Given the description of an element on the screen output the (x, y) to click on. 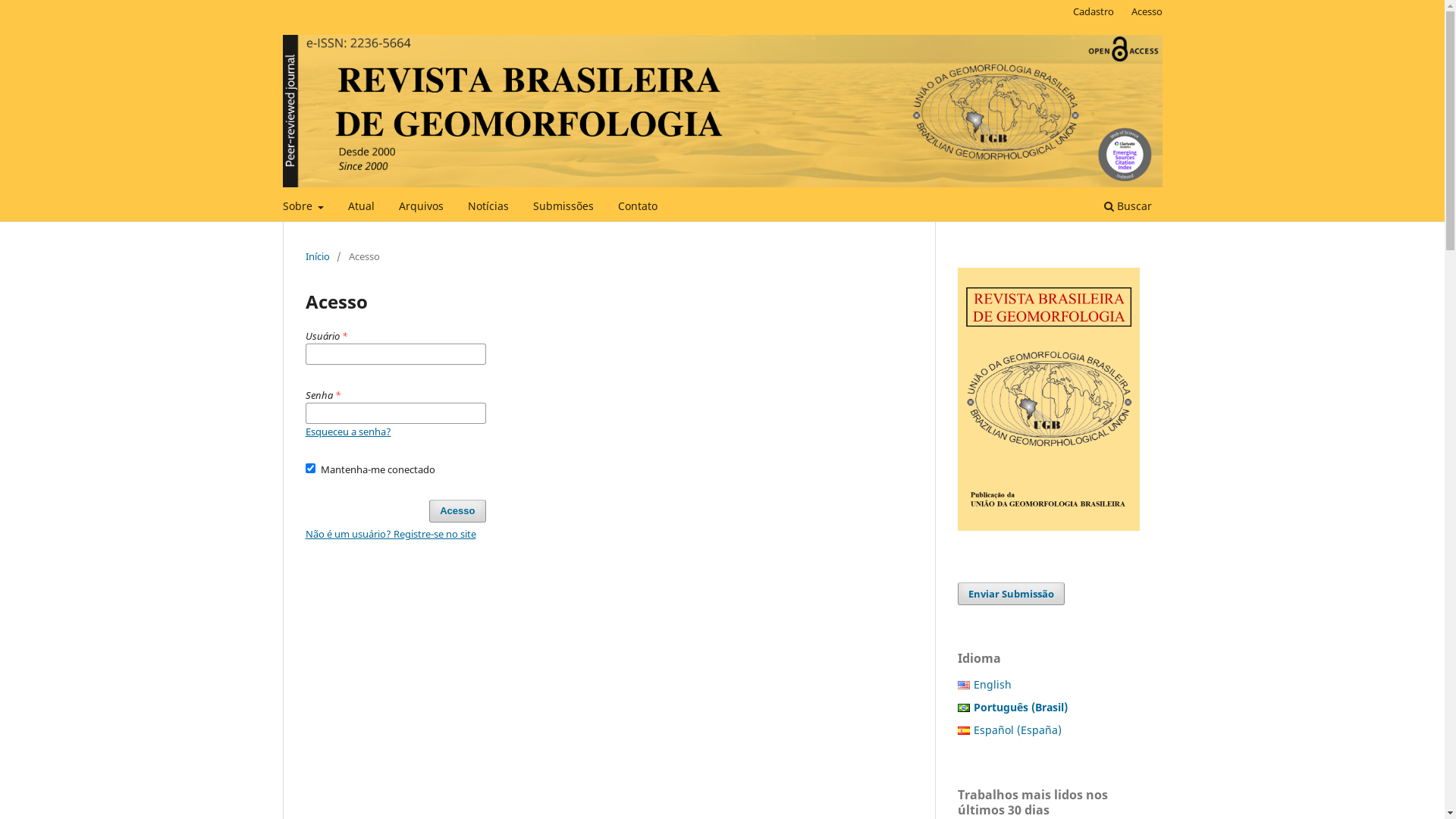
  English Element type: text (992, 684)
Atual Element type: text (360, 207)
Buscar Element type: text (1127, 207)
Acesso Element type: text (1146, 11)
Cadastro Element type: text (1093, 11)
Esqueceu a senha? Element type: text (347, 431)
Acesso Element type: text (457, 510)
Contato Element type: text (637, 207)
Sobre Element type: text (303, 207)
Arquivos Element type: text (420, 207)
